Given the description of an element on the screen output the (x, y) to click on. 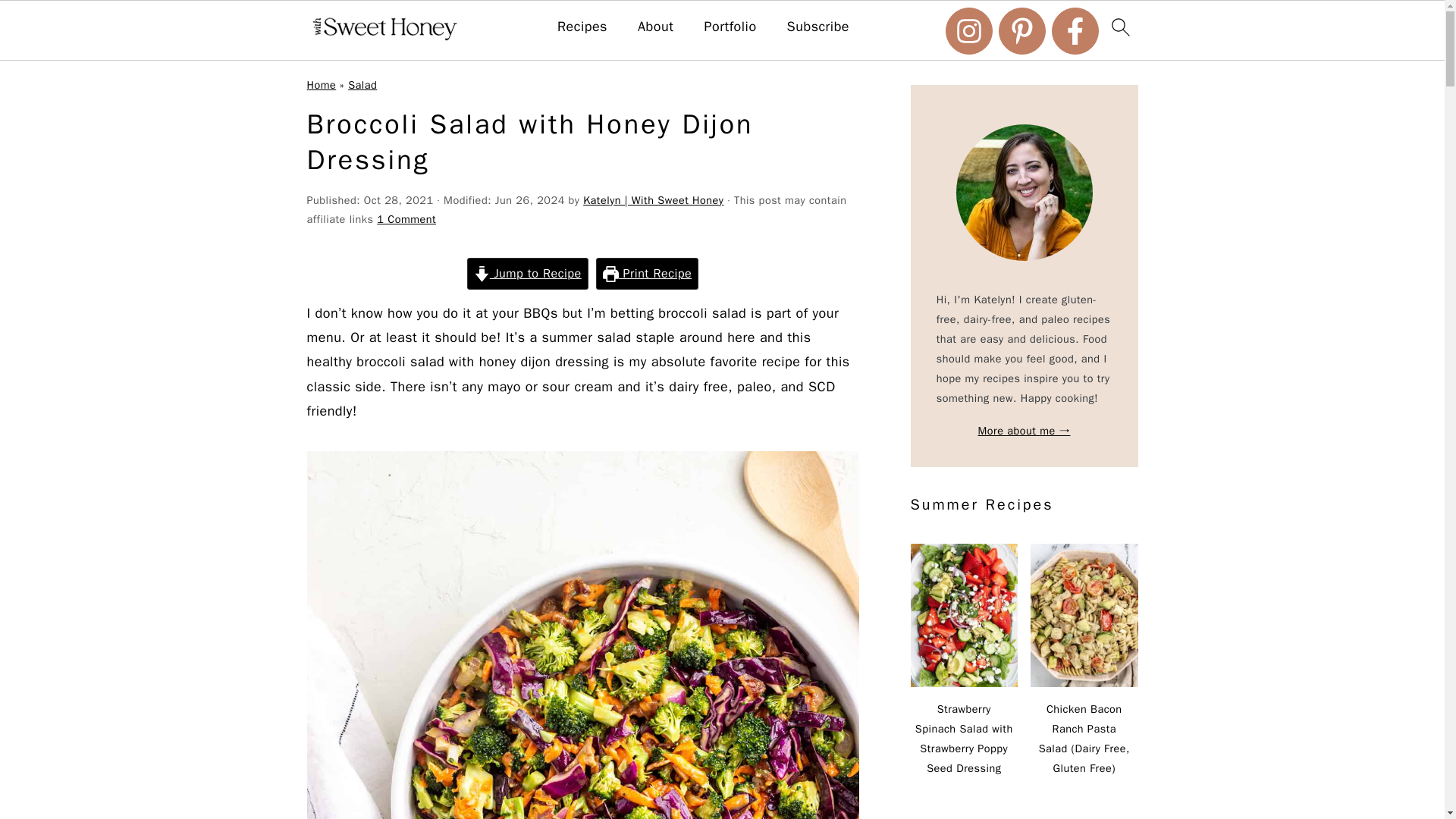
Home (320, 84)
Subscribe (818, 27)
About (654, 27)
search icon (1119, 26)
Portfolio (729, 27)
Recipes (582, 27)
Print Recipe (646, 273)
Salad (362, 84)
1 Comment (406, 219)
